Given the description of an element on the screen output the (x, y) to click on. 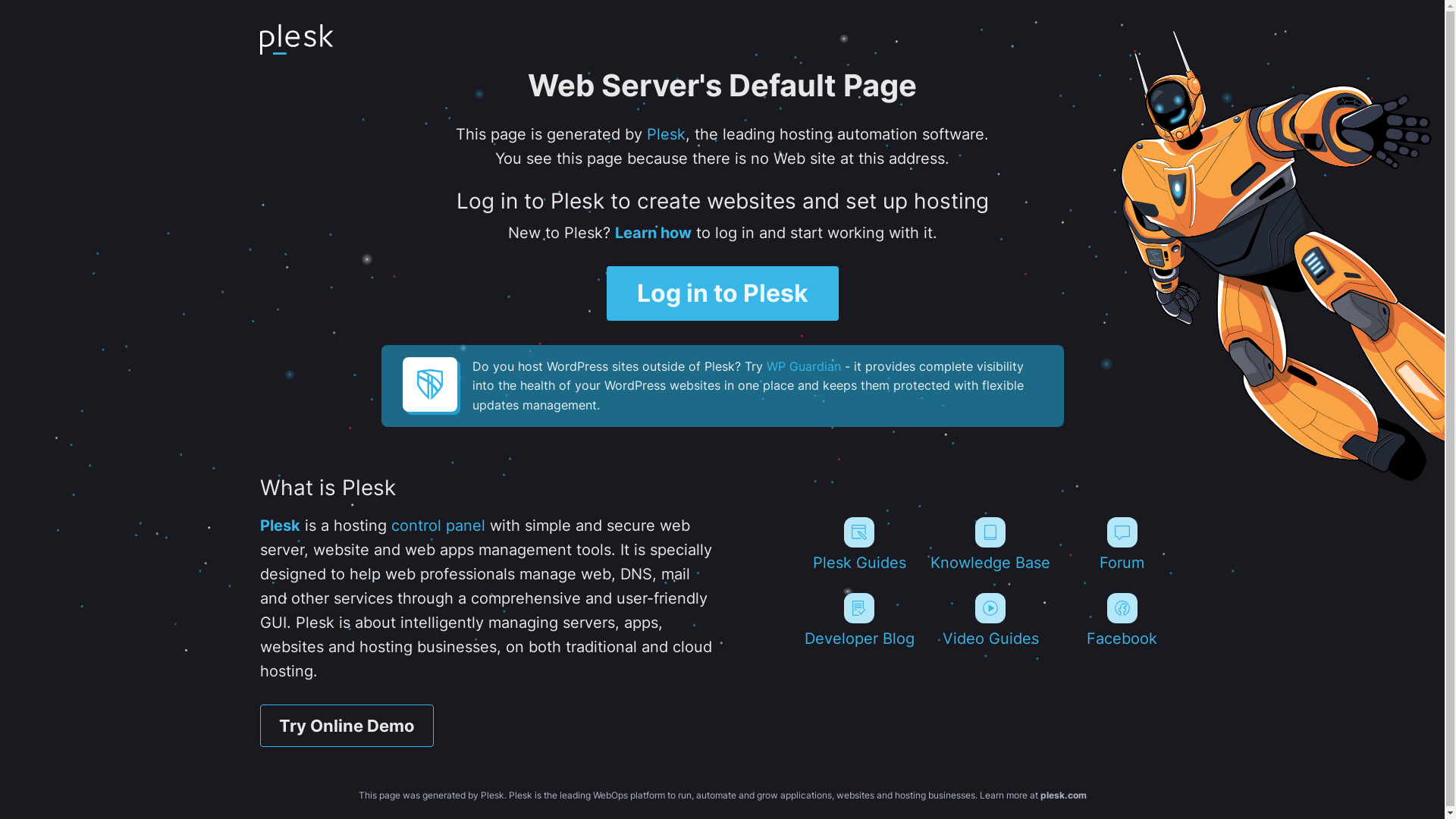
Knowledge Base Element type: text (990, 544)
Plesk Element type: text (665, 134)
Learn how Element type: text (652, 232)
Log in to Plesk Element type: text (722, 293)
Video Guides Element type: text (990, 620)
Plesk Element type: text (279, 525)
Plesk Guides Element type: text (858, 544)
Try Online Demo Element type: text (346, 725)
control panel Element type: text (438, 525)
WP Guardian Element type: text (802, 365)
Developer Blog Element type: text (858, 620)
Forum Element type: text (1121, 544)
Facebook Element type: text (1121, 620)
plesk.com Element type: text (1063, 794)
